Given the description of an element on the screen output the (x, y) to click on. 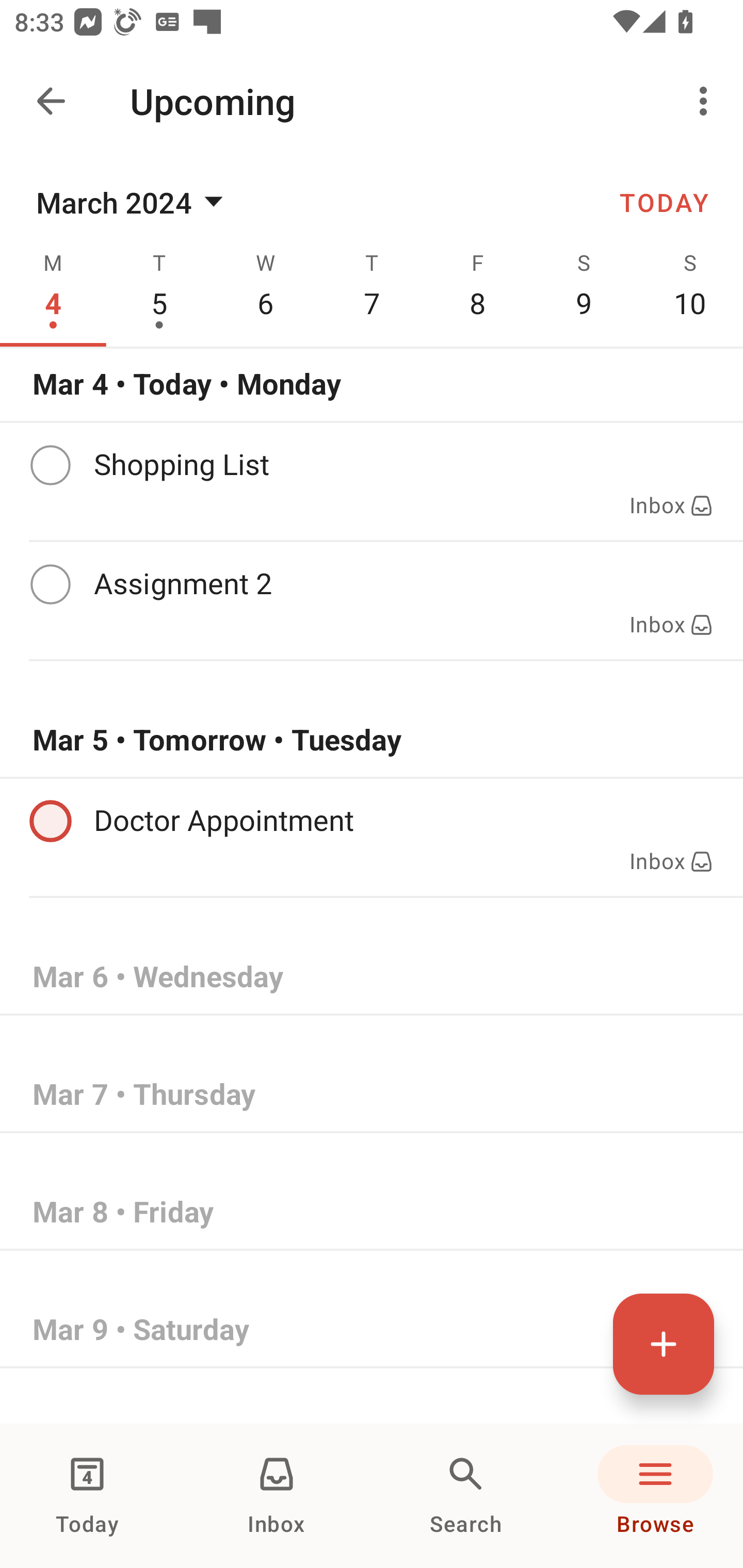
Navigate up Upcoming More options (371, 100)
Navigate up (50, 101)
More options (706, 101)
March 2024 (133, 202)
TODAY (663, 202)
Mar 4 • Today • Monday (371, 384)
Complete Shopping List Inbox (371, 481)
Complete (50, 465)
Complete Assignment 2 Inbox (371, 600)
Complete (50, 584)
Mar 5 • Tomorrow • Tuesday (371, 740)
Complete Doctor Appointment Inbox (371, 837)
Complete (50, 821)
Mar 6 • Wednesday (371, 976)
Mar 7 • Thursday (371, 1094)
Mar 8 • Friday (371, 1212)
Quick add (663, 1343)
Mar 9 • Saturday (371, 1329)
Today (87, 1495)
Inbox (276, 1495)
Search (465, 1495)
